Given the description of an element on the screen output the (x, y) to click on. 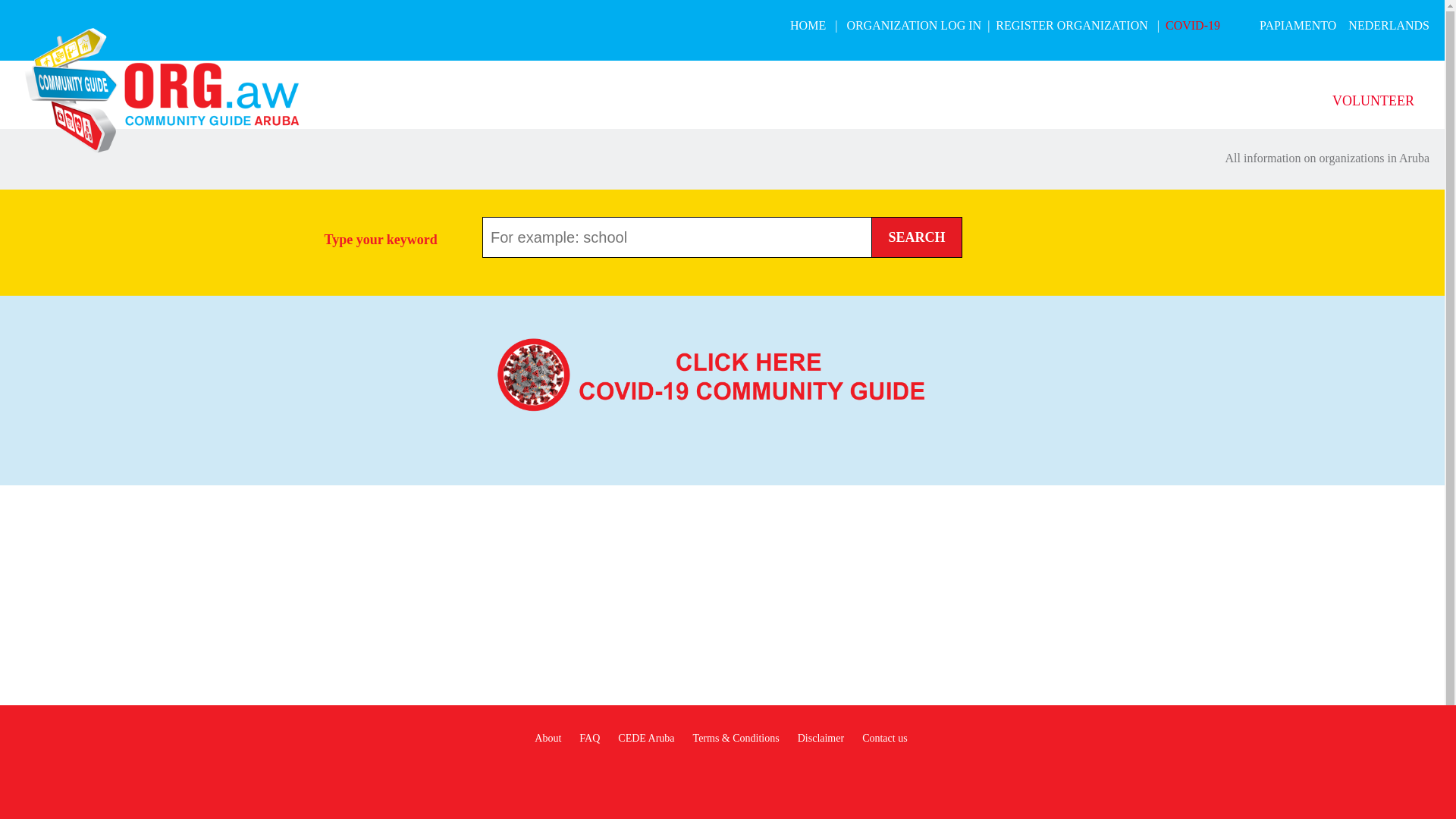
REGISTER ORGANIZATION Element type: text (1071, 24)
Contact us Element type: text (884, 737)
SEARCH Element type: text (916, 236)
VOLUNTEER Element type: text (1373, 100)
CEDE Aruba Element type: text (646, 737)
NEDERLANDS Element type: text (1388, 24)
HOME Element type: text (807, 24)
Terms & Conditions Element type: text (736, 737)
About Element type: text (547, 737)
FAQ Element type: text (589, 737)
COVID-19 Element type: text (1192, 24)
ORGANIZATION LOG IN Element type: text (913, 24)
Disclaimer Element type: text (820, 737)
PAPIAMENTO Element type: text (1297, 24)
